Given the description of an element on the screen output the (x, y) to click on. 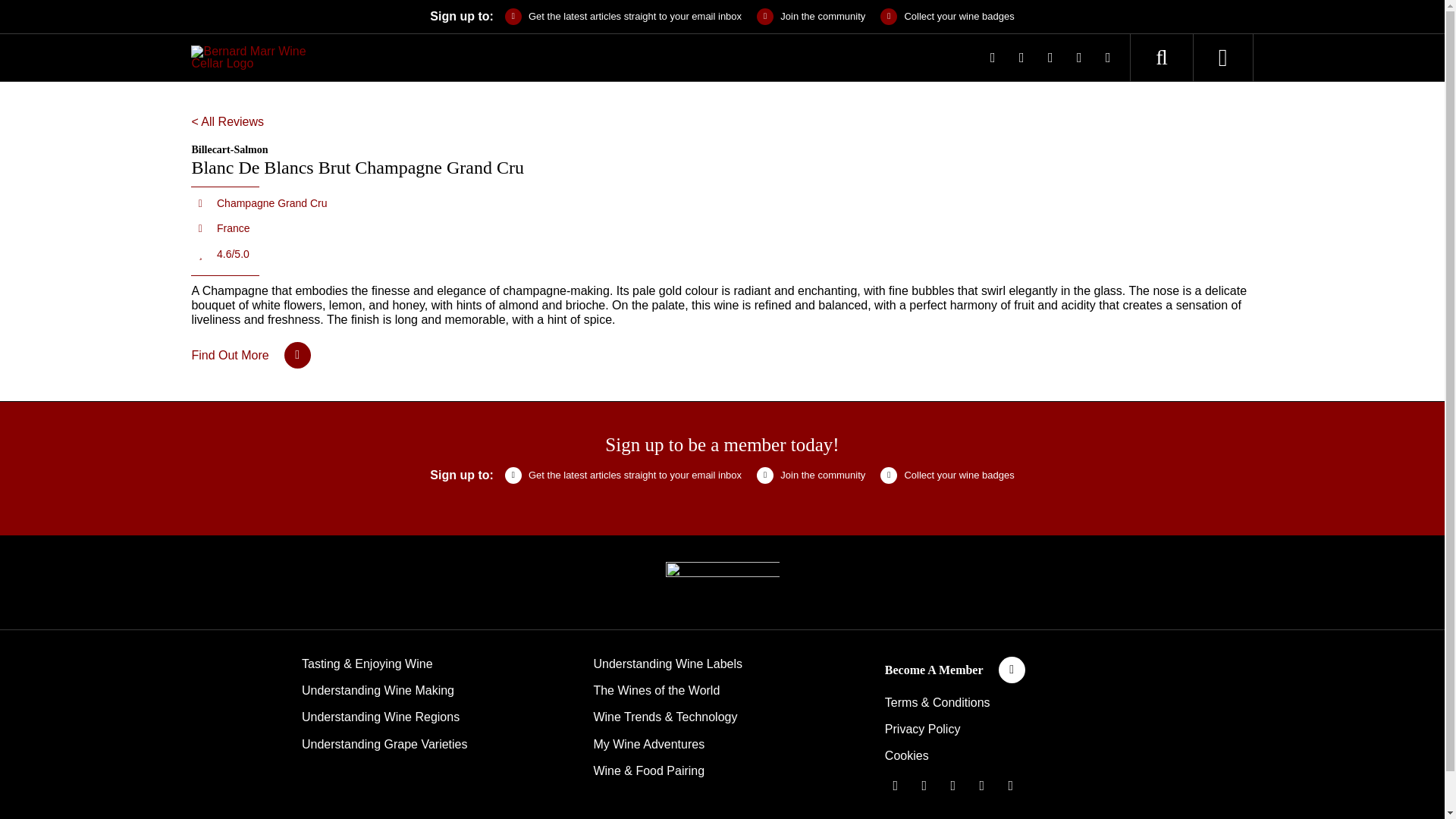
Become A Member (955, 669)
LinkedIn (1078, 56)
Email (1107, 56)
Find Out More (250, 355)
X (924, 785)
Understanding Grape Varieties (384, 744)
X (1021, 56)
Understanding Wine Regions (380, 716)
The Wines of the World (655, 689)
Instagram (1050, 56)
